Given the description of an element on the screen output the (x, y) to click on. 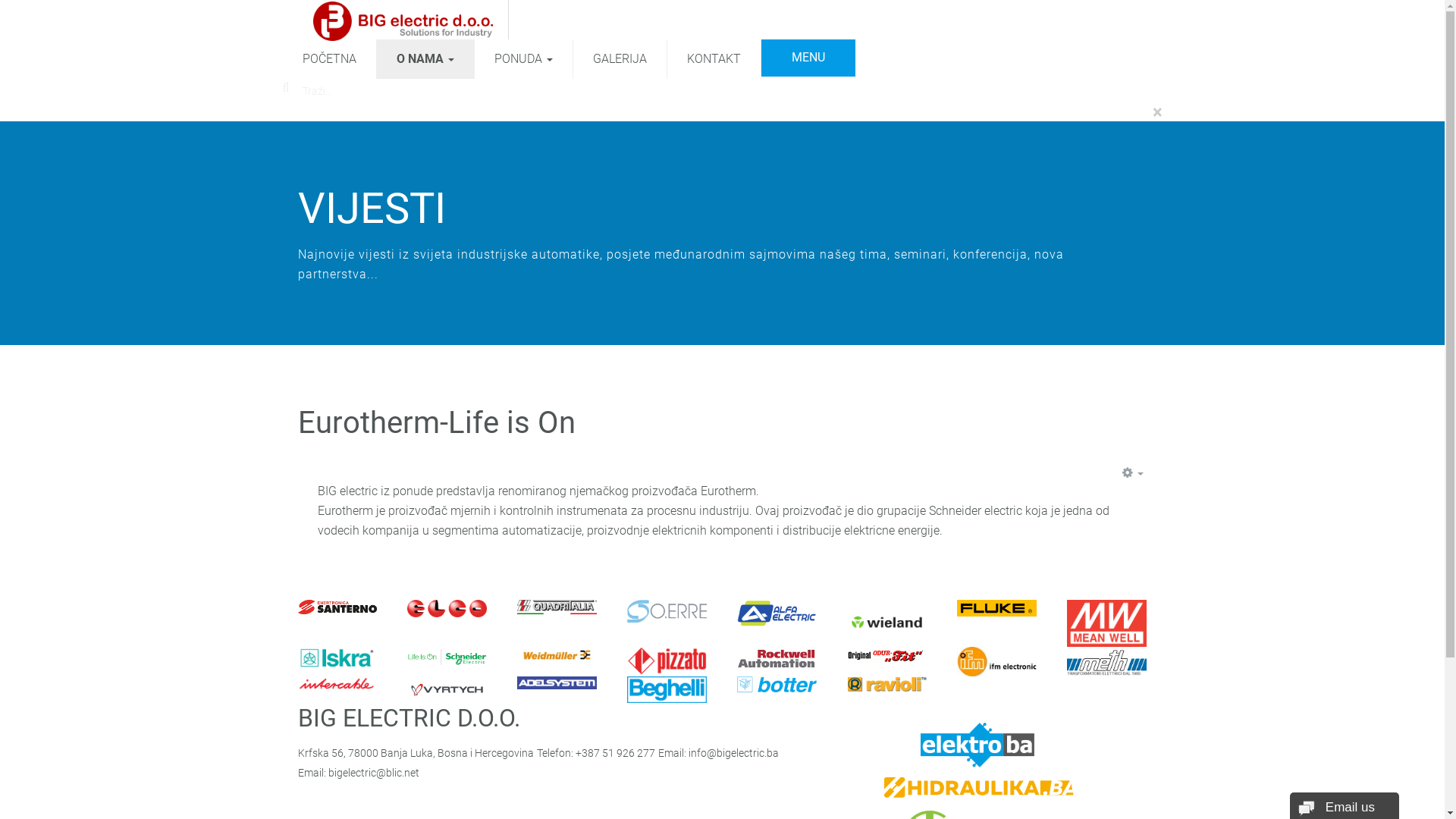
Weidmuller Element type: hover (556, 654)
O NAMA Element type: text (424, 58)
Pizzato Elettrica Element type: hover (666, 660)
Elco Italy Element type: hover (446, 608)
Wieland Electric Element type: hover (886, 621)
Elettronica Santerno Element type: hover (336, 606)
BIG electric d.o.o. Element type: hover (402, 19)
Ravioli Element type: hover (886, 684)
Oerre Element type: hover (666, 610)
Adelsystem Element type: hover (556, 682)
Vyrtich Element type: hover (446, 689)
Quadritalia Element type: hover (556, 606)
Mean Well Element type: hover (1106, 622)
Intercable Element type: hover (336, 684)
Hidraulika.ba Element type: hover (978, 788)
Beghelli Element type: hover (666, 689)
Schneider Electric Element type: hover (446, 657)
MENU Element type: text (808, 57)
KONTAKT Element type: text (713, 58)
Meth Element type: hover (1106, 660)
Rockwell Automation Element type: hover (776, 658)
GALERIJA Element type: text (619, 58)
Original Odur Fit Element type: hover (886, 655)
IFM electronic Element type: hover (996, 661)
Alfa Electric Element type: hover (776, 613)
Elektro.ba Element type: hover (977, 744)
Botter Element type: hover (776, 684)
Fluke Element type: hover (996, 607)
PONUDA Element type: text (523, 58)
Iskra Element type: hover (336, 657)
